Given the description of an element on the screen output the (x, y) to click on. 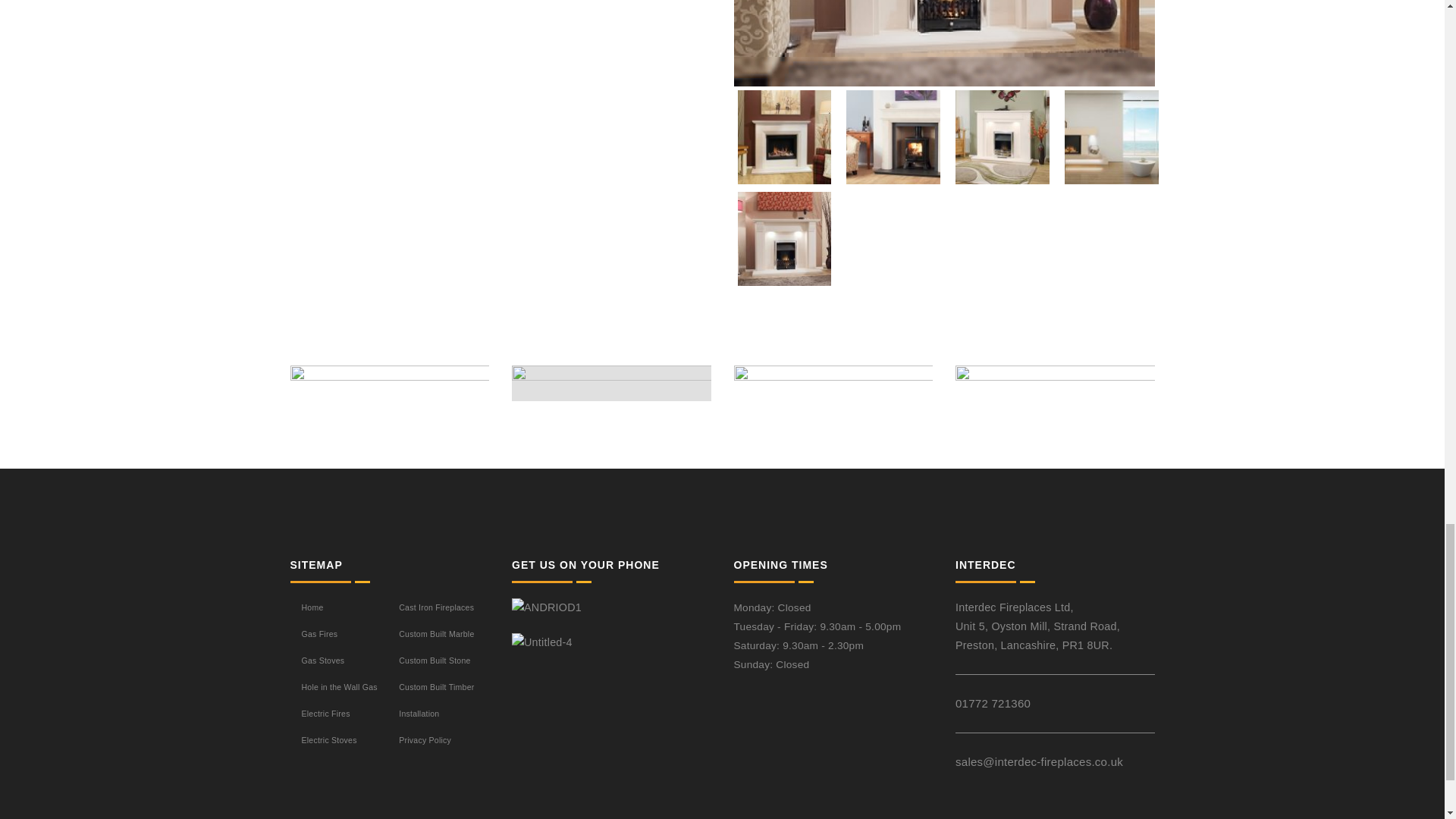
Home (312, 606)
Screen Shot 2016-04-03 at 07.57.38 (1054, 397)
Gas Fires (319, 633)
Gas Stoves (323, 660)
Electric Stoves (328, 739)
logo (389, 390)
Installation (418, 713)
Cast Iron Fireplaces (436, 606)
Custom Built Stone (434, 660)
Hole in the Wall Gas (339, 686)
